Given the description of an element on the screen output the (x, y) to click on. 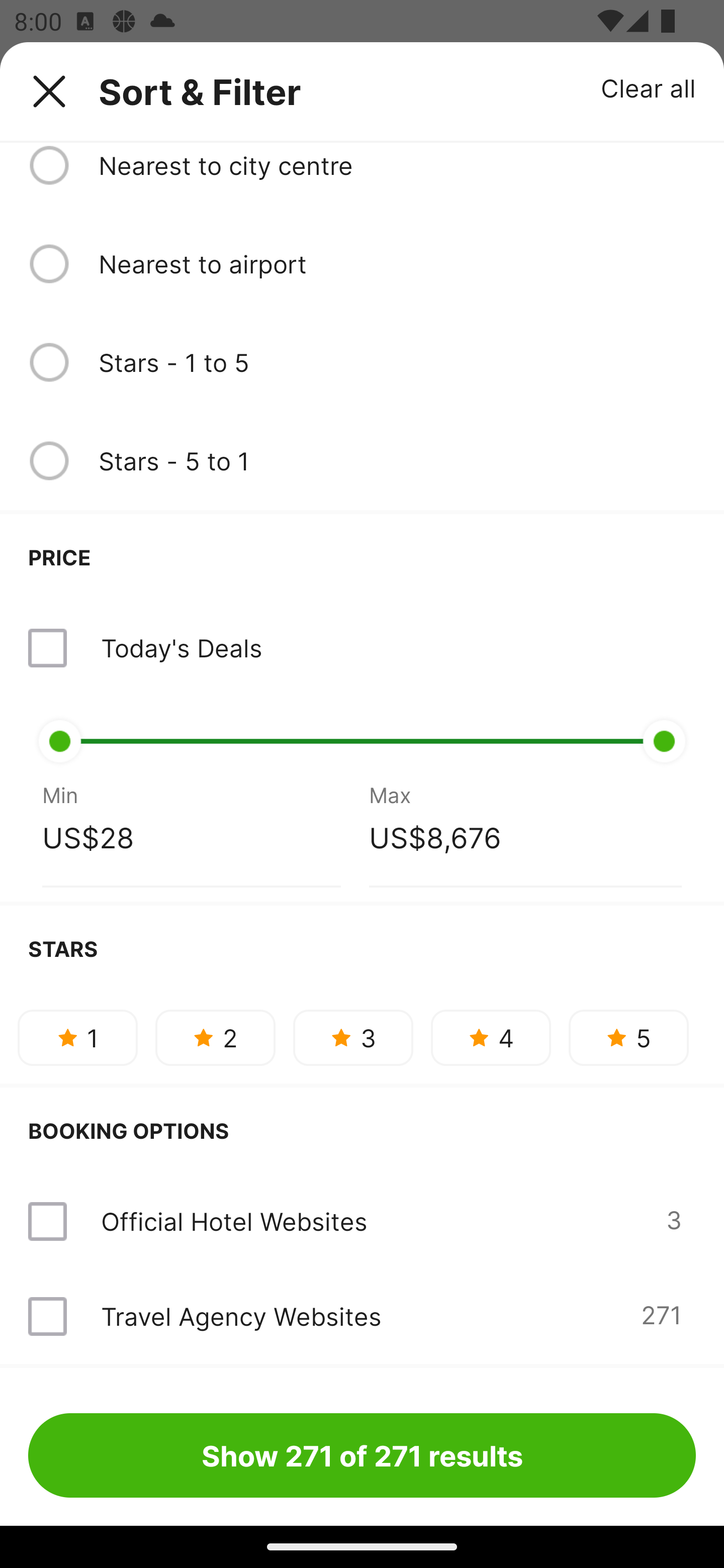
Clear all (648, 87)
Nearest to city centre (396, 165)
Nearest to airport (396, 263)
Stars - 1 to 5 (396, 361)
Stars - 5 to 1 (396, 460)
Today's Deals (362, 648)
Today's Deals (181, 647)
1 (77, 1037)
2 (214, 1037)
3 (352, 1037)
4 (491, 1037)
5 (627, 1037)
Official Hotel Websites 3 (362, 1221)
Official Hotel Websites (233, 1221)
Travel Agency Websites 271 (362, 1316)
Travel Agency Websites (240, 1316)
Show 271 of 271 results (361, 1454)
